Given the description of an element on the screen output the (x, y) to click on. 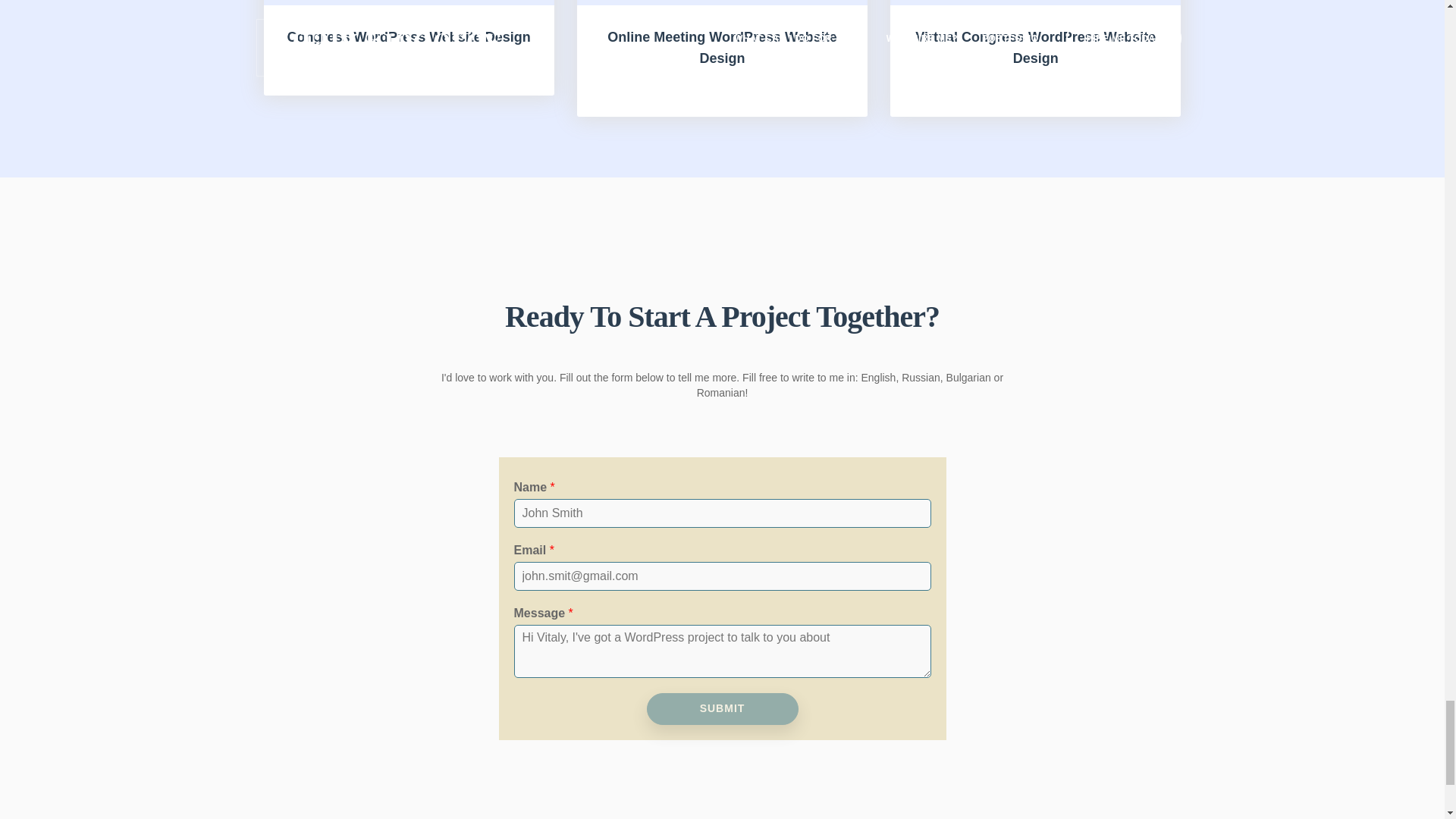
SUBMIT (721, 708)
